Given the description of an element on the screen output the (x, y) to click on. 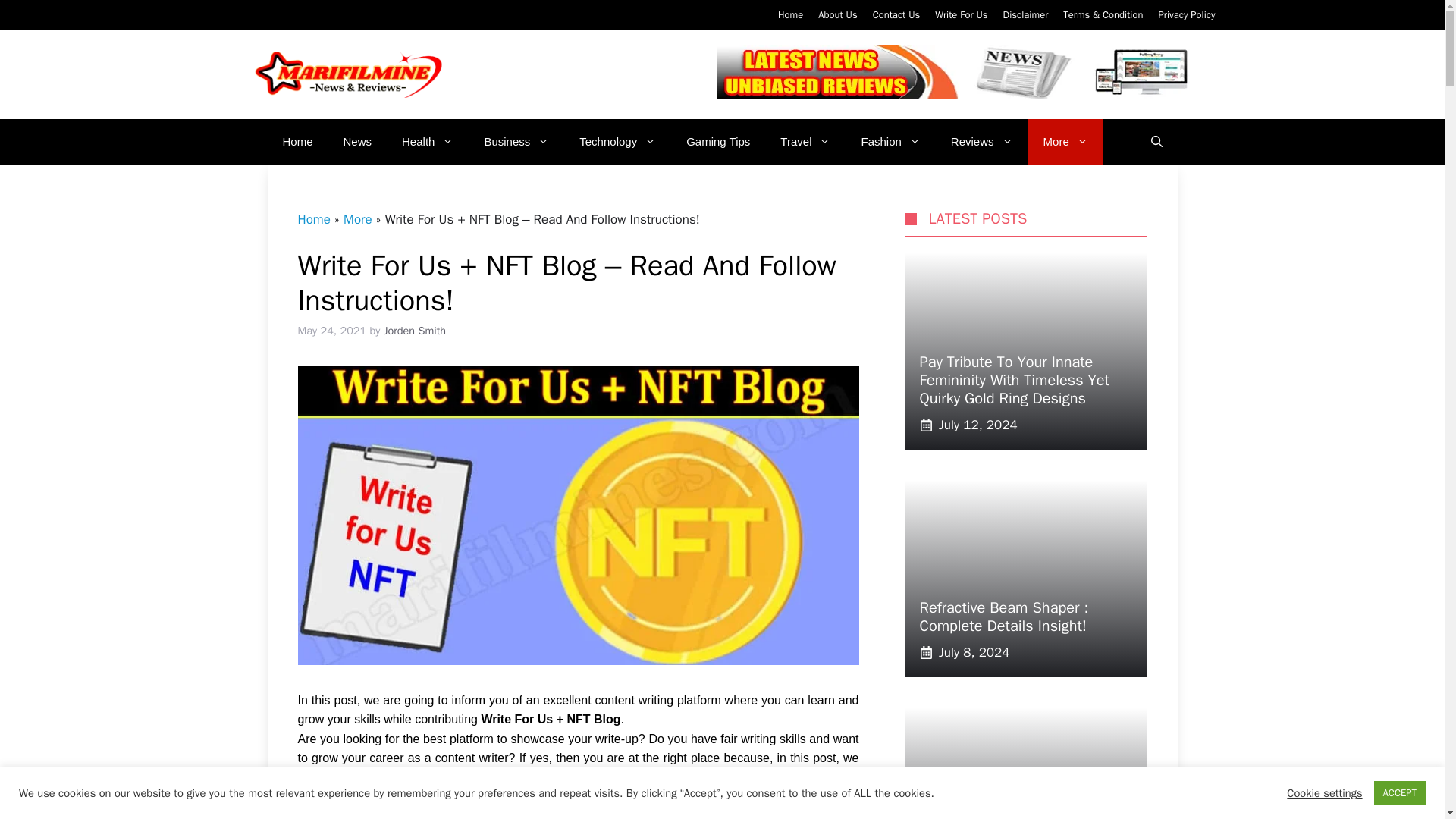
News (358, 141)
Health (427, 141)
Business (516, 141)
View all posts by Jorden Smith (414, 330)
Contact Us (896, 14)
About Us (837, 14)
Travel (805, 141)
Gaming Tips (718, 141)
Home (790, 14)
Technology (617, 141)
Fashion (889, 141)
Write For Us (960, 14)
Reviews (981, 141)
Home (296, 141)
Disclaimer (1025, 14)
